Given the description of an element on the screen output the (x, y) to click on. 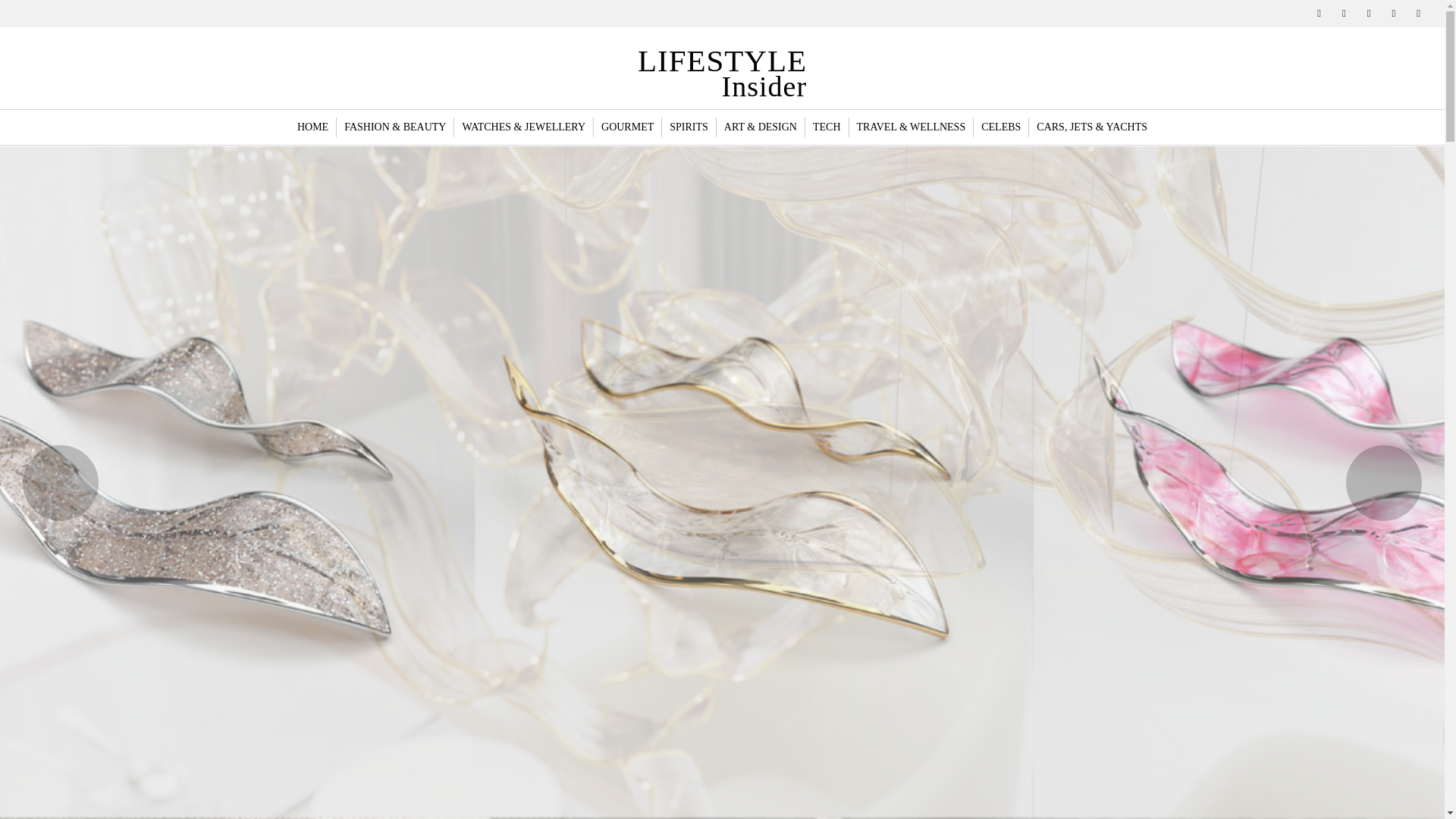
TECH (721, 68)
SPIRITS (826, 127)
GOURMET (689, 127)
HOME (628, 127)
CELEBS (312, 127)
